Given the description of an element on the screen output the (x, y) to click on. 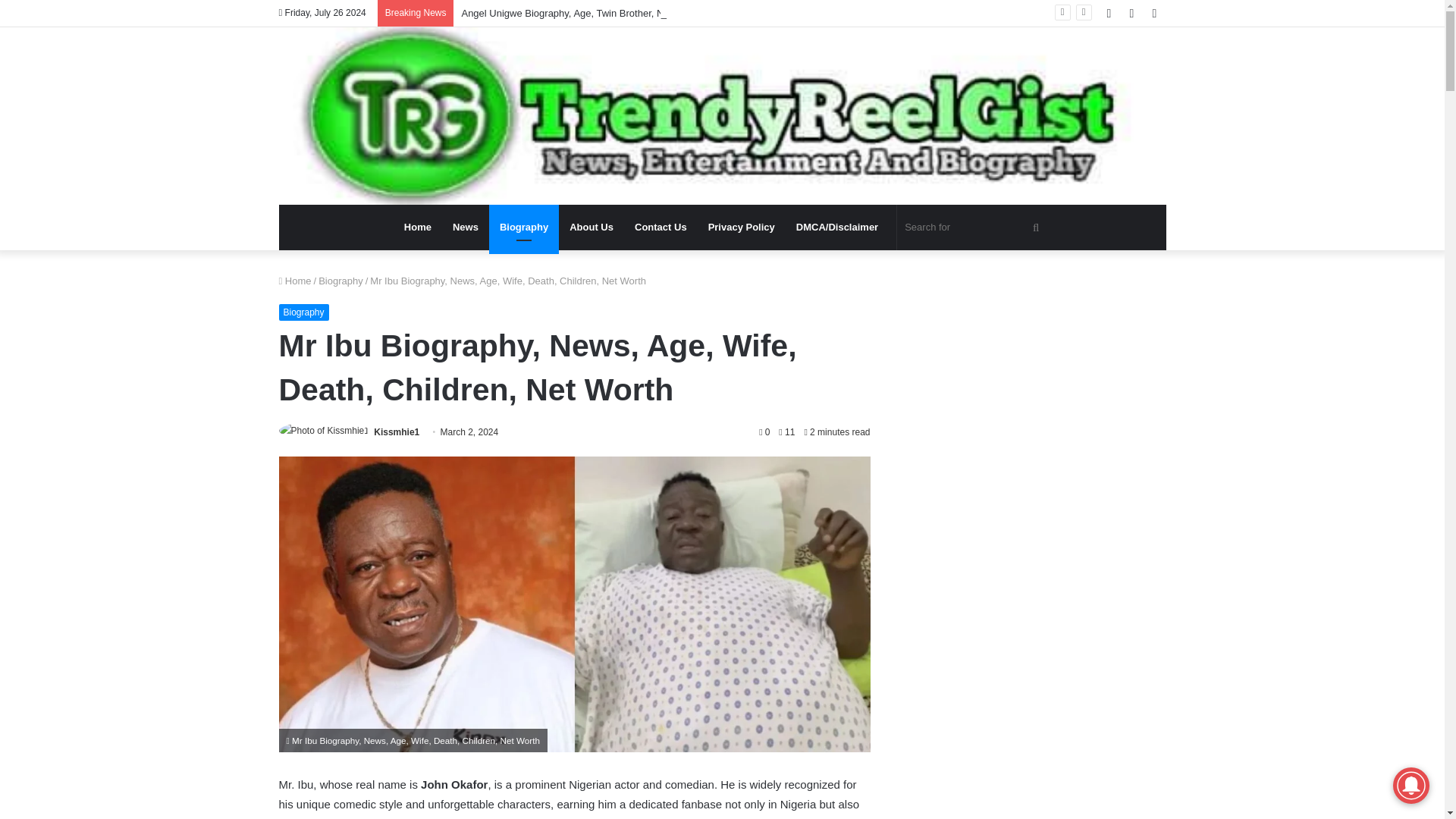
Contact Us (660, 227)
Search for (973, 227)
Kissmhie1 (396, 431)
Home (295, 280)
News (465, 227)
Kissmhie1 (396, 431)
Biography (340, 280)
Privacy Policy (741, 227)
About Us (591, 227)
Biography (524, 227)
Biography (304, 312)
Home (417, 227)
